Given the description of an element on the screen output the (x, y) to click on. 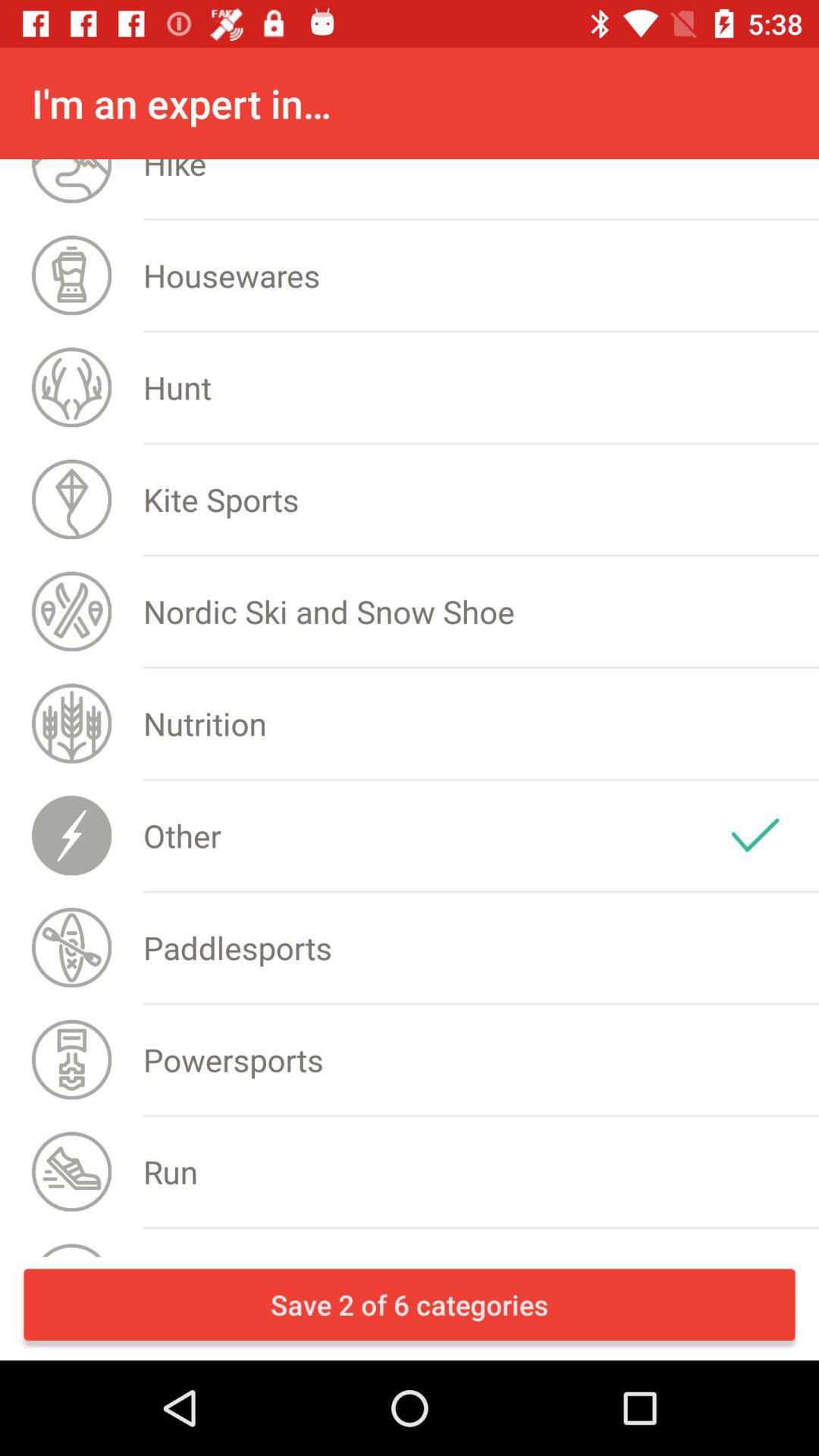
scroll until save 2 of icon (409, 1304)
